Given the description of an element on the screen output the (x, y) to click on. 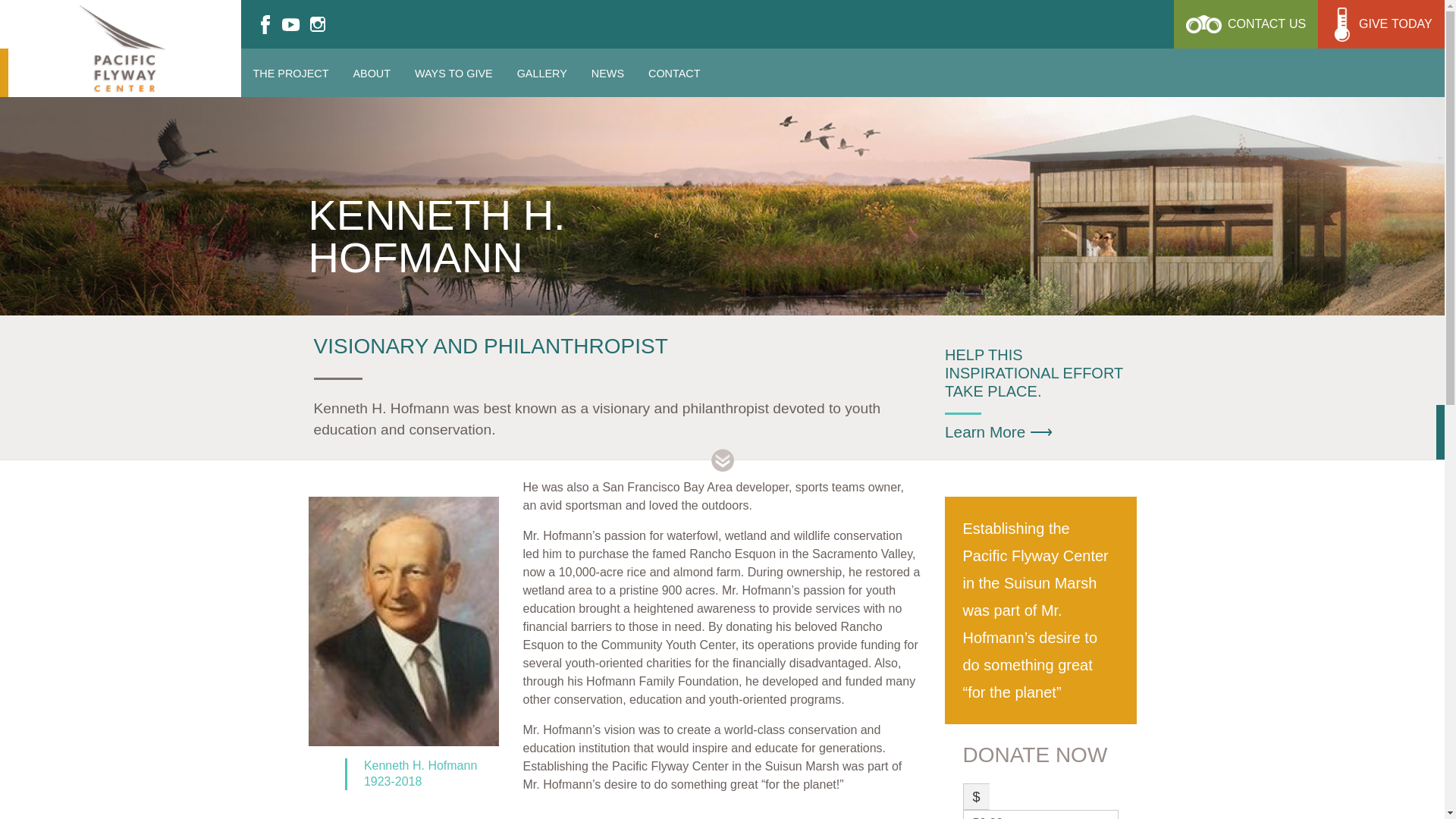
CONTACT (673, 73)
50.00 (1040, 814)
WAYS TO GIVE (1245, 24)
NEWS (453, 73)
THE PROJECT (607, 73)
ABOUT (291, 73)
GALLERY (371, 73)
